Given the description of an element on the screen output the (x, y) to click on. 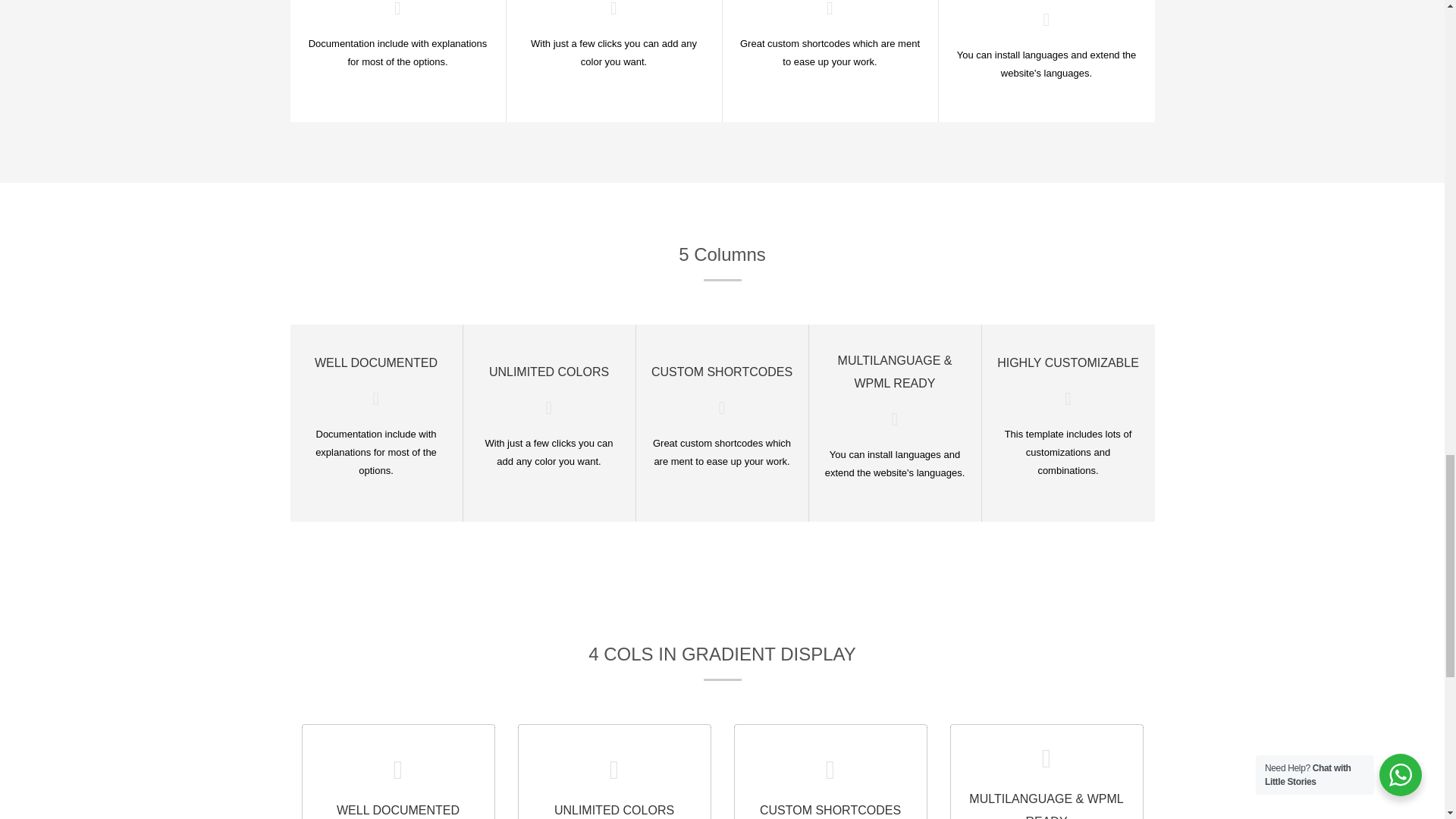
SEE MORE (398, 787)
